Given the description of an element on the screen output the (x, y) to click on. 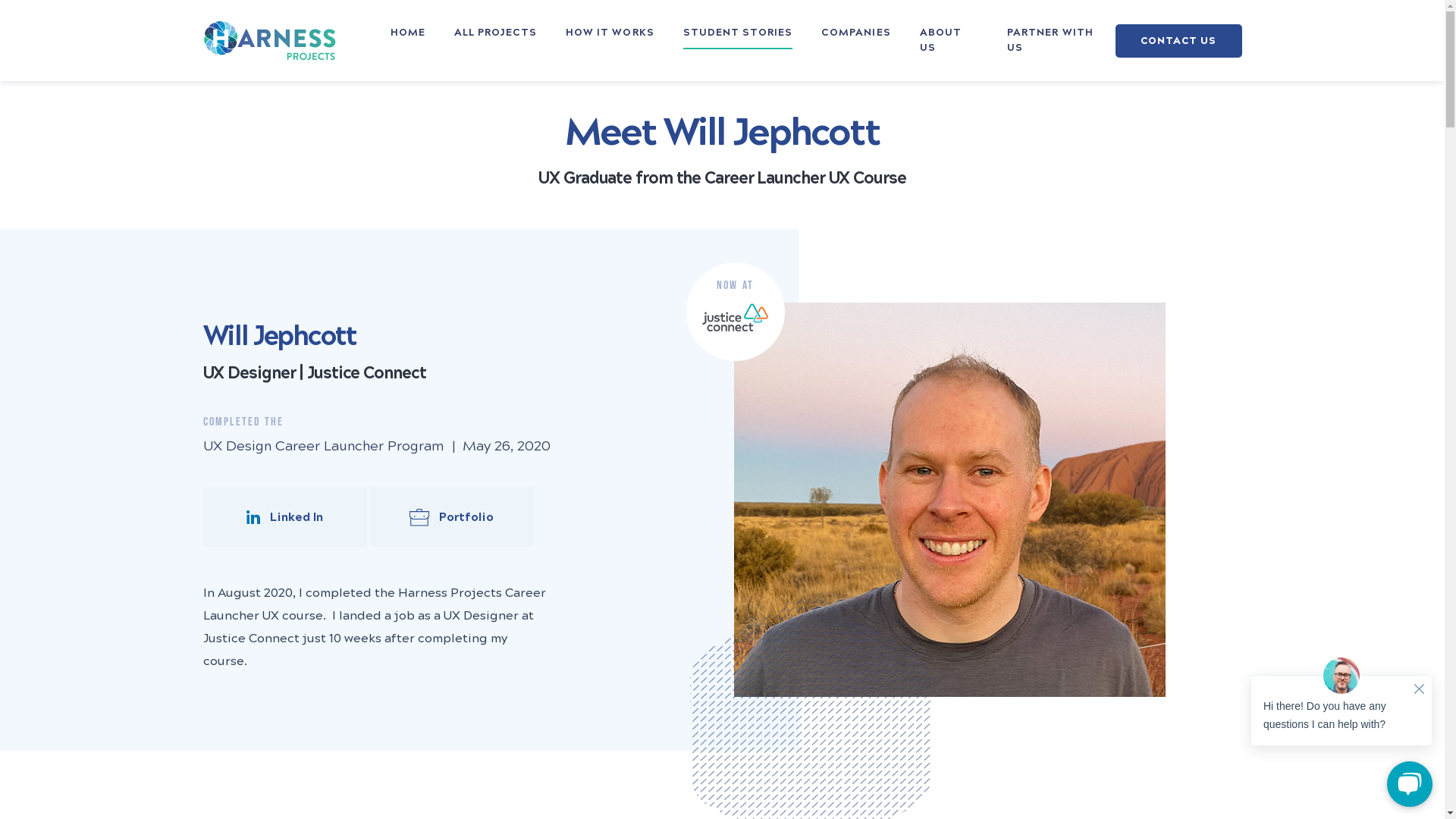
STUDENT STORIES Element type: text (738, 33)
Portfolio Element type: text (451, 516)
ABOUT US Element type: text (949, 40)
HOW IT WORKS Element type: text (609, 33)
PARTNER WITH US Element type: text (1057, 40)
UX Design Career Launcher Program Element type: text (323, 445)
CONTACT US Element type: text (1177, 40)
COMPANIES Element type: text (855, 33)
Linked In Element type: text (285, 516)
ALL PROJECTS Element type: text (495, 33)
HOME Element type: text (406, 33)
